Given the description of an element on the screen output the (x, y) to click on. 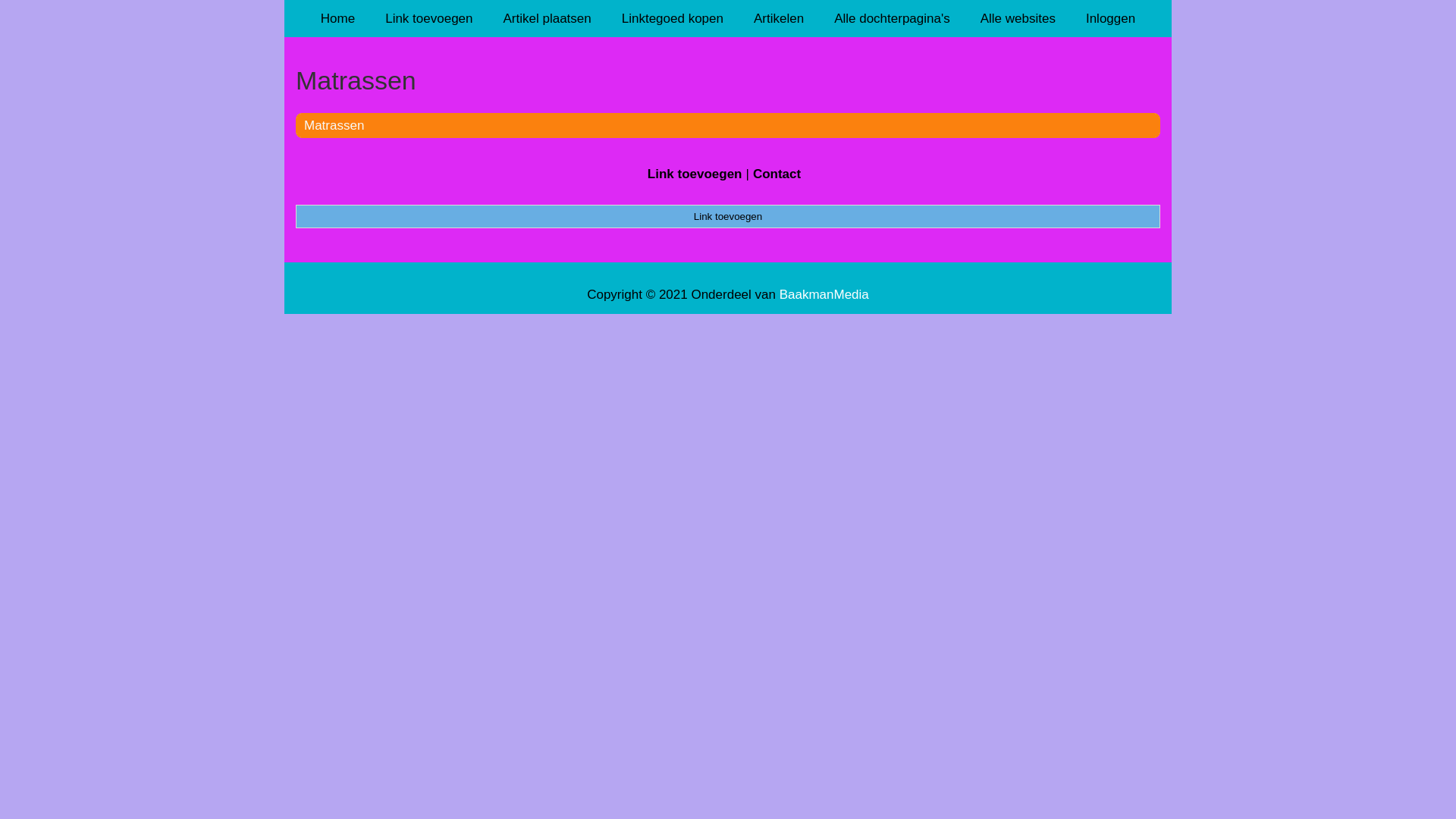
Linktegoed kopen Element type: text (672, 18)
Link toevoegen Element type: text (727, 215)
Inloggen Element type: text (1110, 18)
Alle dochterpagina's Element type: text (892, 18)
Link toevoegen Element type: text (428, 18)
Artikel plaatsen Element type: text (547, 18)
Link toevoegen Element type: text (694, 173)
Matrassen Element type: text (727, 80)
BaakmanMedia Element type: text (824, 294)
Artikelen Element type: text (778, 18)
Contact Element type: text (776, 173)
Matrassen Element type: text (334, 125)
Alle websites Element type: text (1017, 18)
Home Element type: text (337, 18)
